Given the description of an element on the screen output the (x, y) to click on. 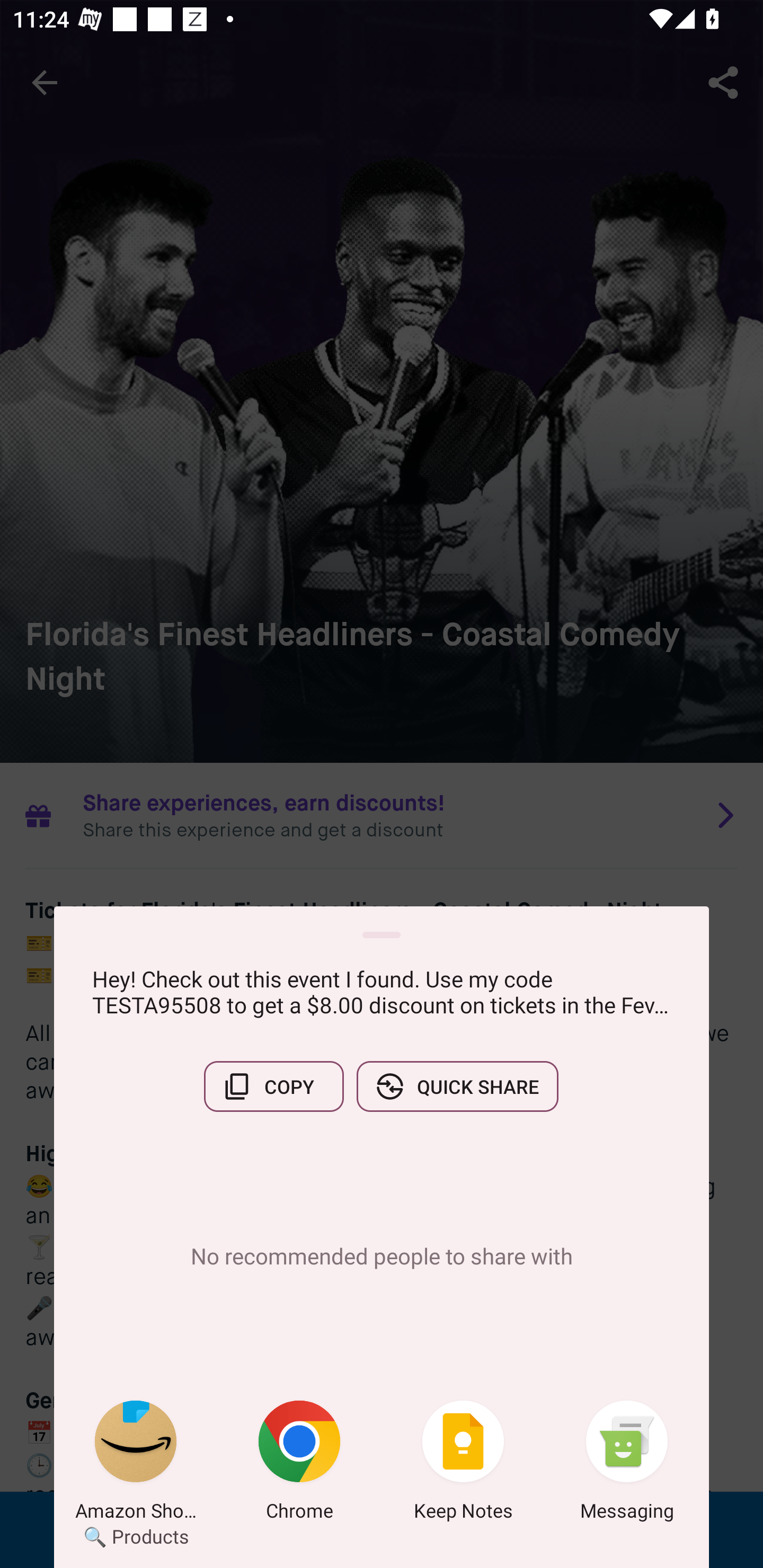
COPY (273, 1086)
QUICK SHARE (457, 1086)
Amazon Shopping 🔍 Products (135, 1463)
Chrome (299, 1463)
Keep Notes (463, 1463)
Messaging (626, 1463)
